Given the description of an element on the screen output the (x, y) to click on. 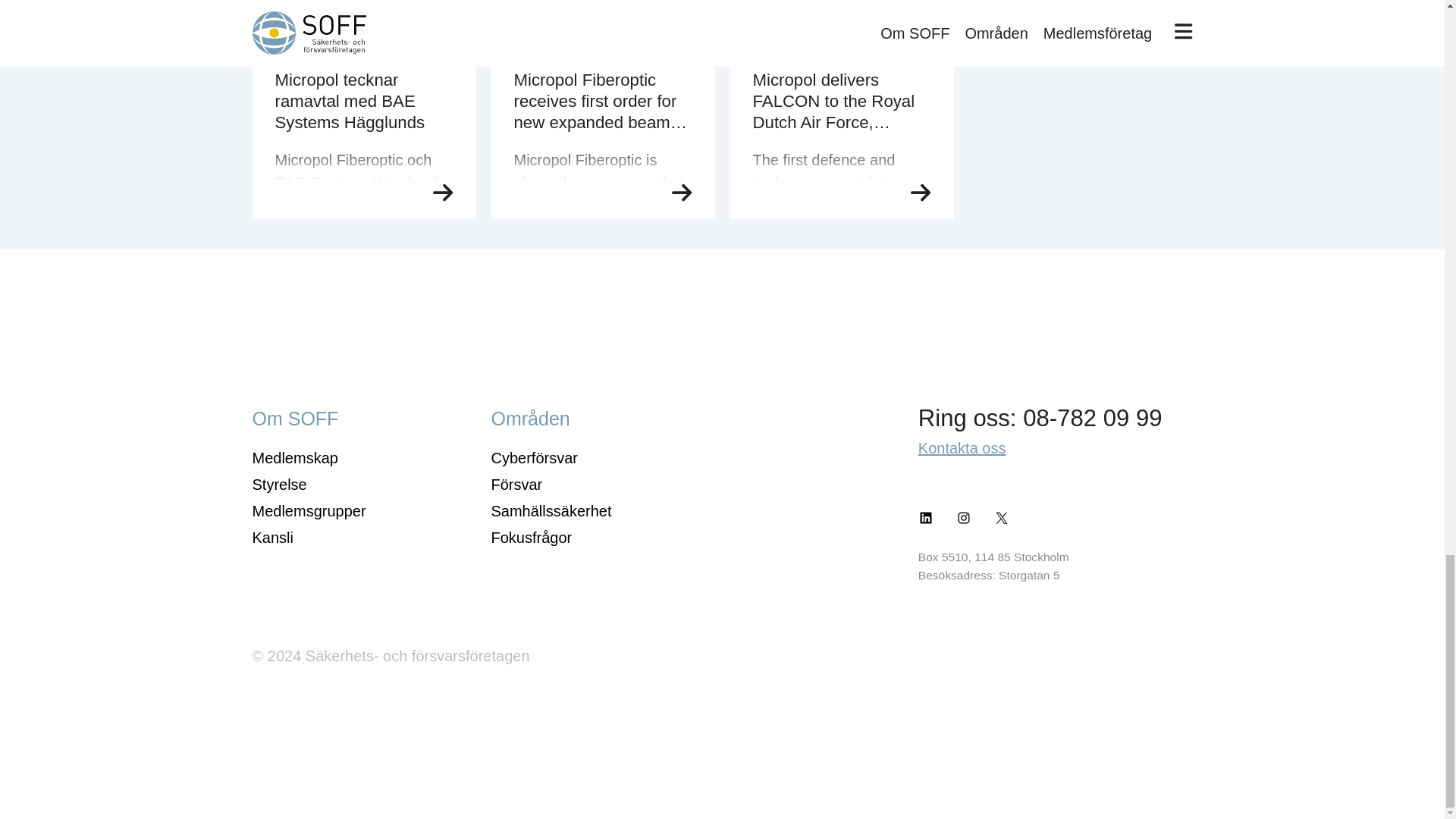
Medlemskap (294, 457)
Om SOFF (294, 418)
Kansli (271, 537)
Medlemsgrupper (308, 510)
Styrelse (278, 484)
